Given the description of an element on the screen output the (x, y) to click on. 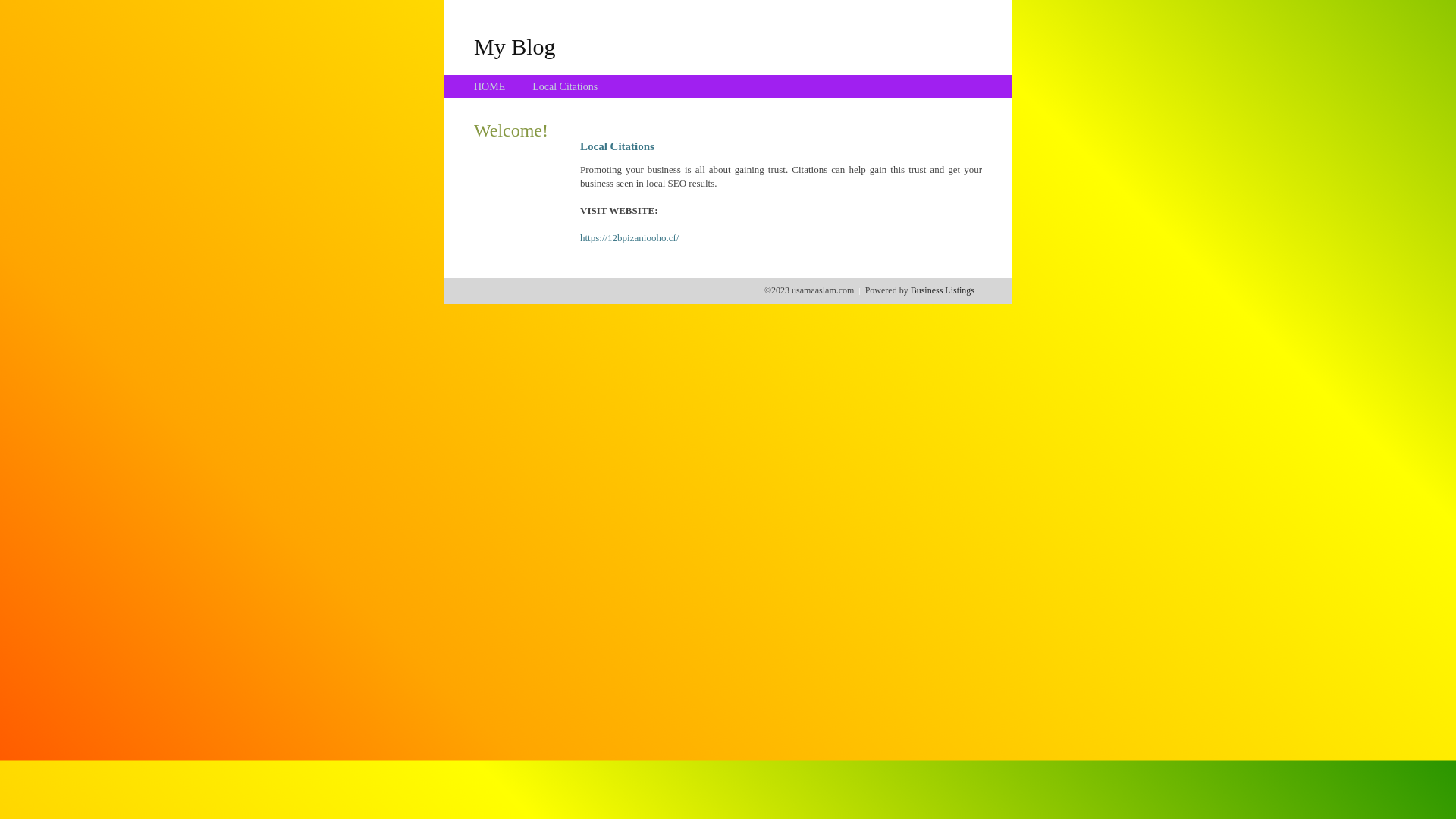
https://12bpizaniooho.cf/ Element type: text (629, 237)
Business Listings Element type: text (942, 290)
My Blog Element type: text (514, 46)
Local Citations Element type: text (564, 86)
HOME Element type: text (489, 86)
